Given the description of an element on the screen output the (x, y) to click on. 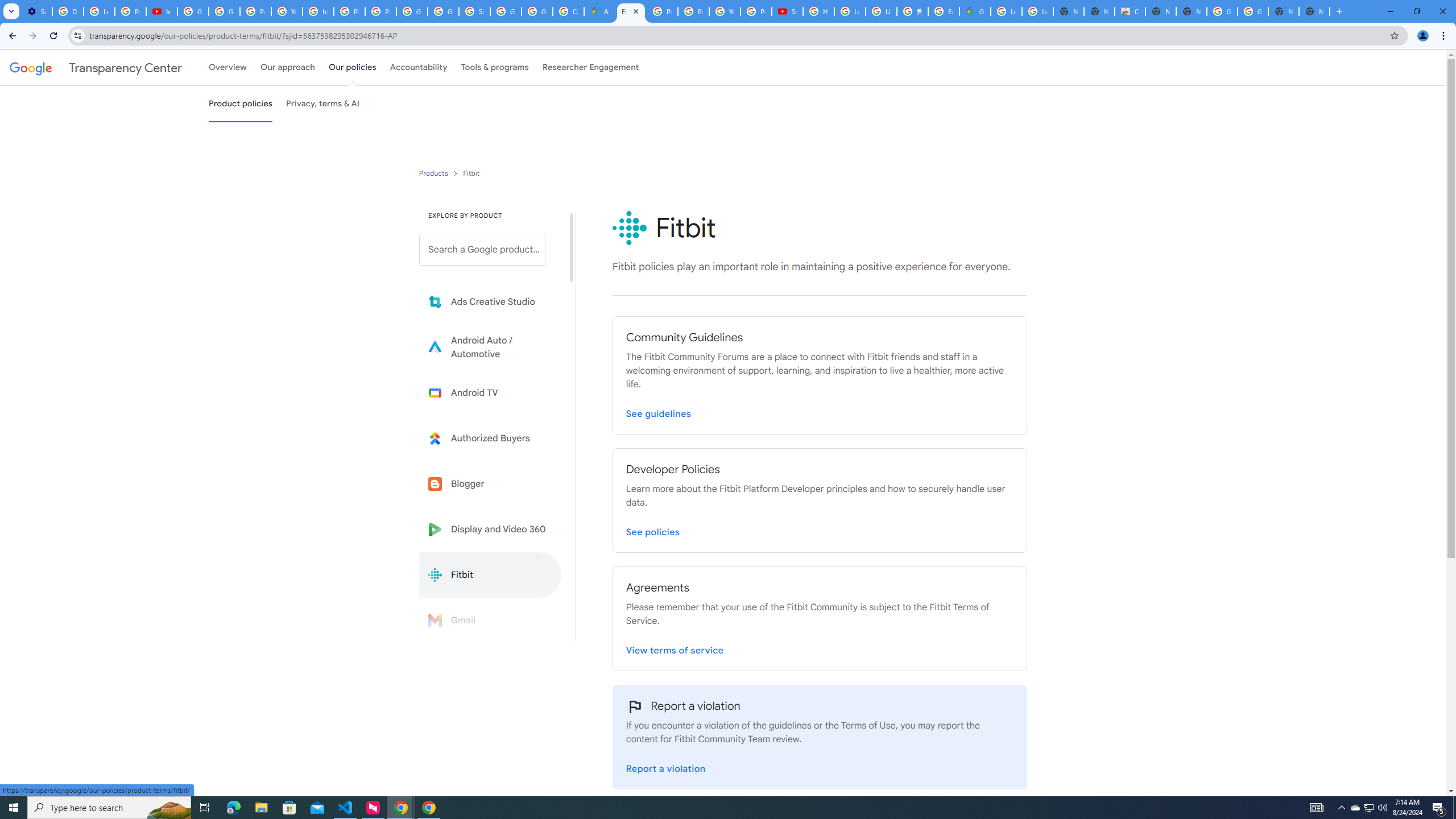
Display and Video 360 (490, 529)
Privacy Help Center - Policies Help (693, 11)
Our approach (287, 67)
Google Maps (974, 11)
Introduction | Google Privacy Policy - YouTube (161, 11)
Google Account Help (192, 11)
Tools & programs (494, 67)
Fitbit Policies and Guidelines - Transparency Center (631, 11)
Fitbit (490, 574)
